Given the description of an element on the screen output the (x, y) to click on. 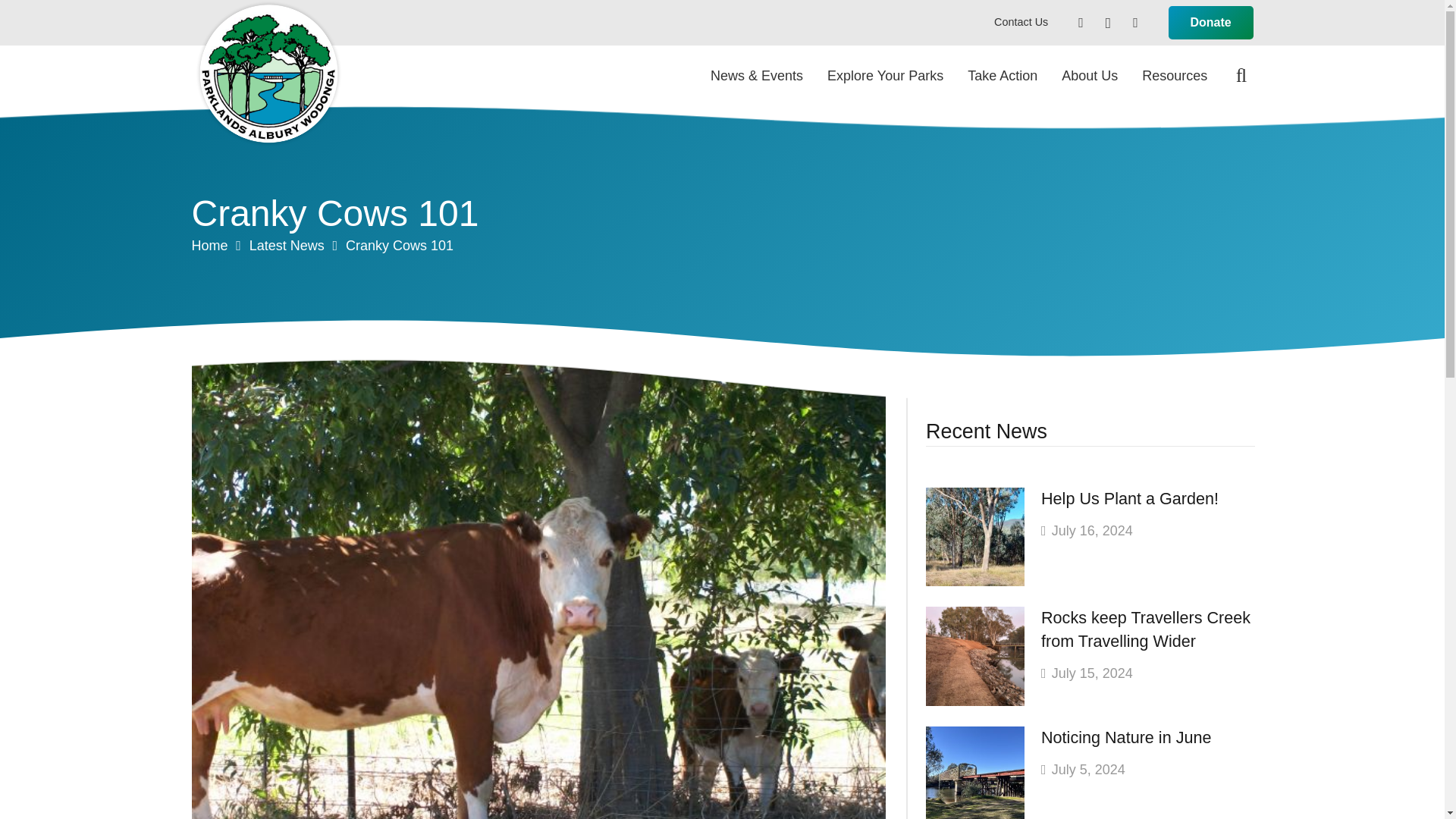
About Us (1089, 75)
Take Action (1002, 75)
Donate (1211, 22)
Resources (1174, 75)
Instagram (1107, 22)
Explore Your Parks (885, 75)
YouTube (1134, 22)
Contact Us (1021, 21)
Facebook (1080, 22)
